Given the description of an element on the screen output the (x, y) to click on. 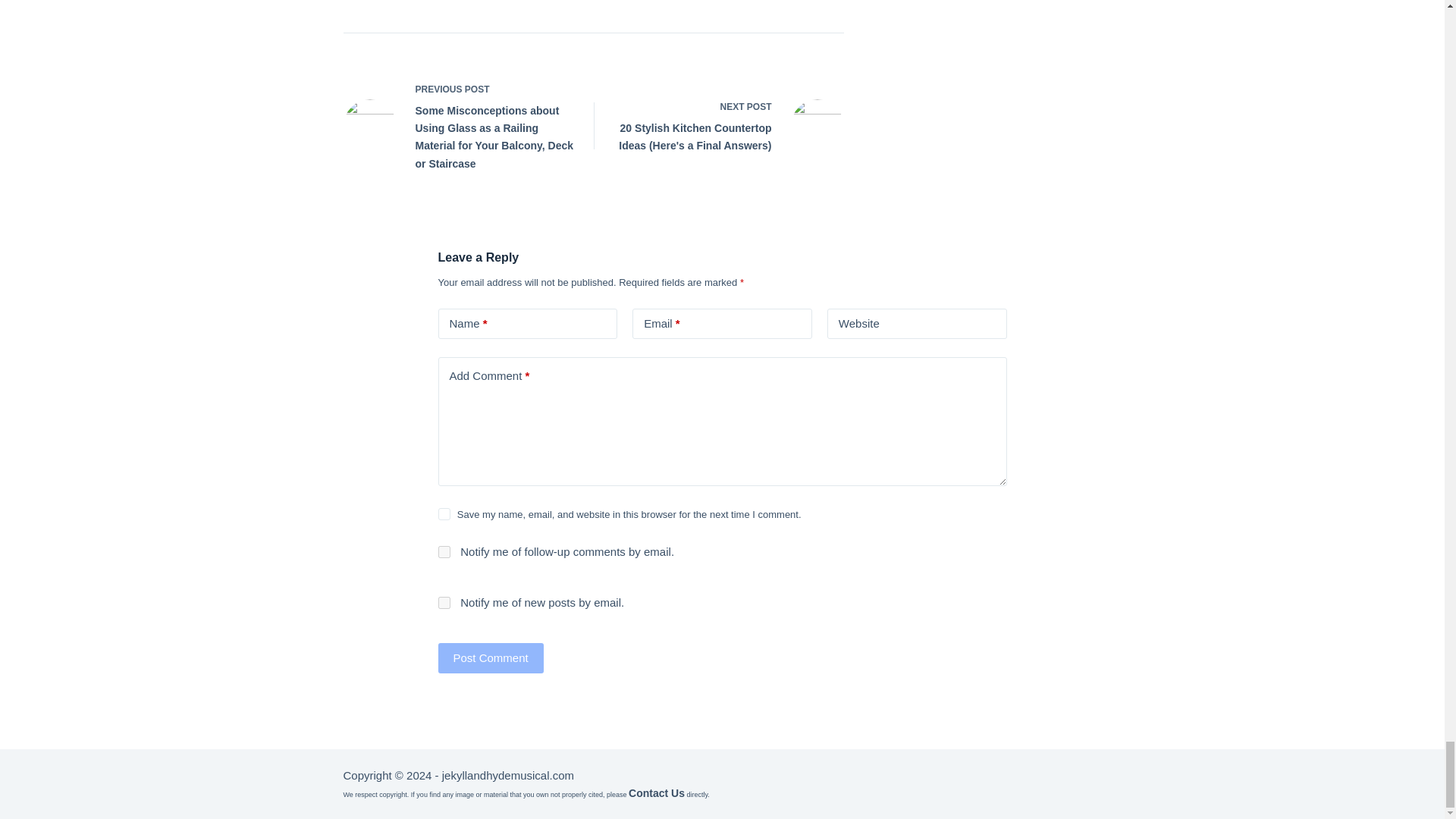
subscribe (443, 551)
yes (443, 513)
subscribe (443, 603)
